Given the description of an element on the screen output the (x, y) to click on. 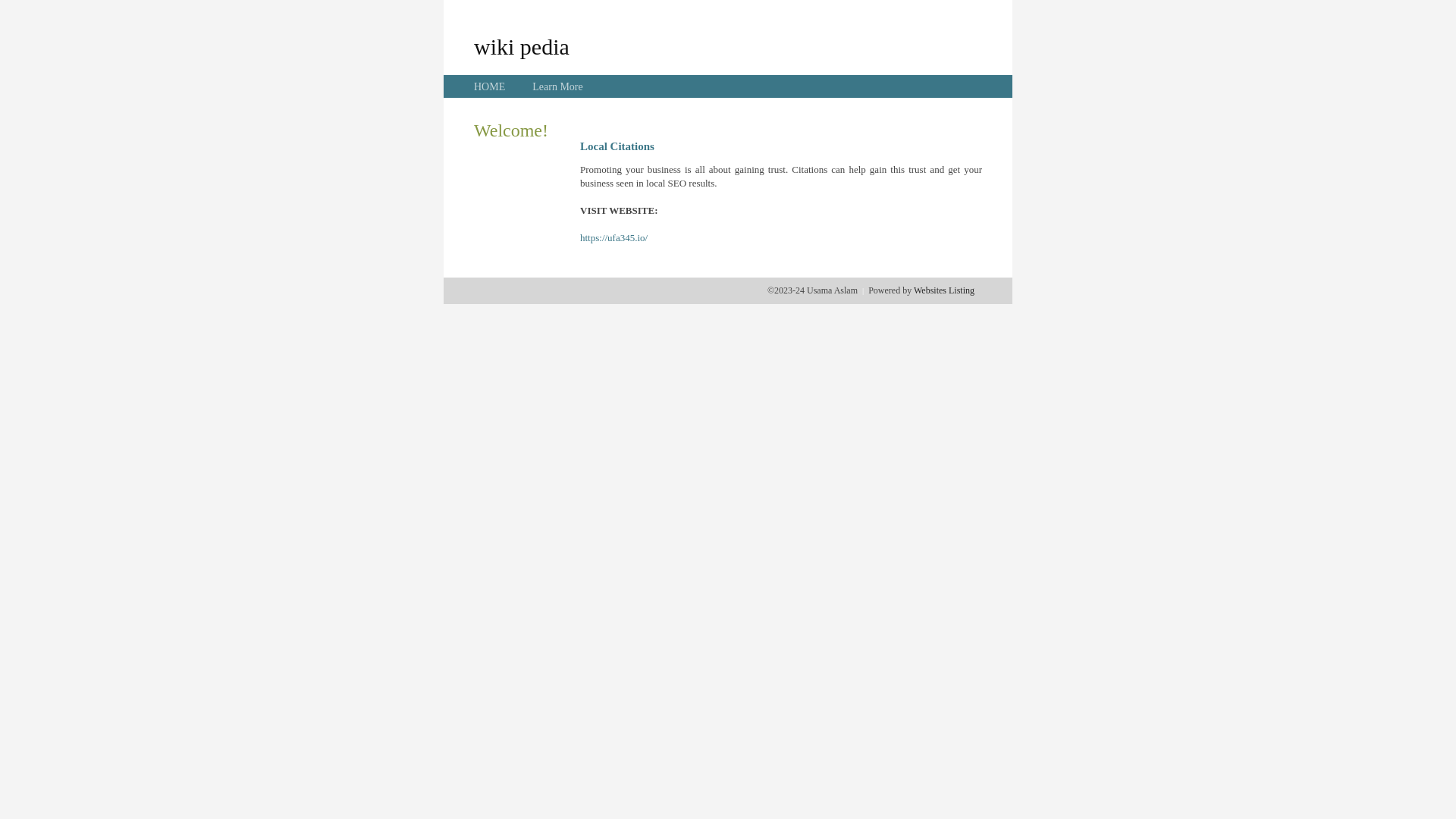
wiki pedia Element type: text (521, 46)
HOME Element type: text (489, 86)
https://ufa345.io/ Element type: text (613, 237)
Websites Listing Element type: text (943, 290)
Learn More Element type: text (557, 86)
